Given the description of an element on the screen output the (x, y) to click on. 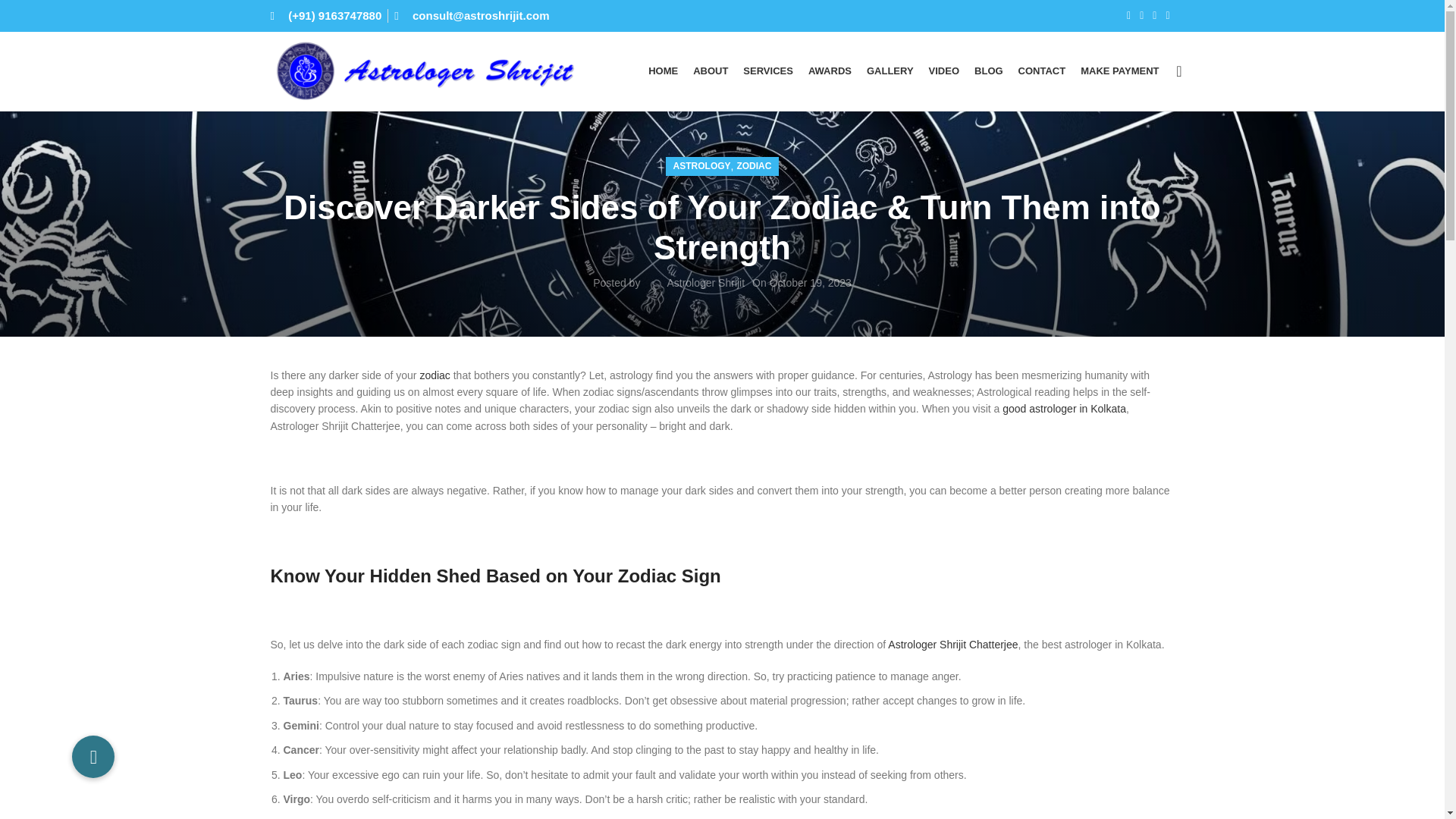
Astrologer Shrijit Chatterjee (952, 644)
MAKE PAYMENT (1119, 71)
zodiac (434, 375)
GALLERY (890, 71)
SERVICES (767, 71)
Astrologer Shrijit (705, 282)
CONTACT (1041, 71)
HOME (662, 71)
ABOUT (710, 71)
VIDEO (943, 71)
